Given the description of an element on the screen output the (x, y) to click on. 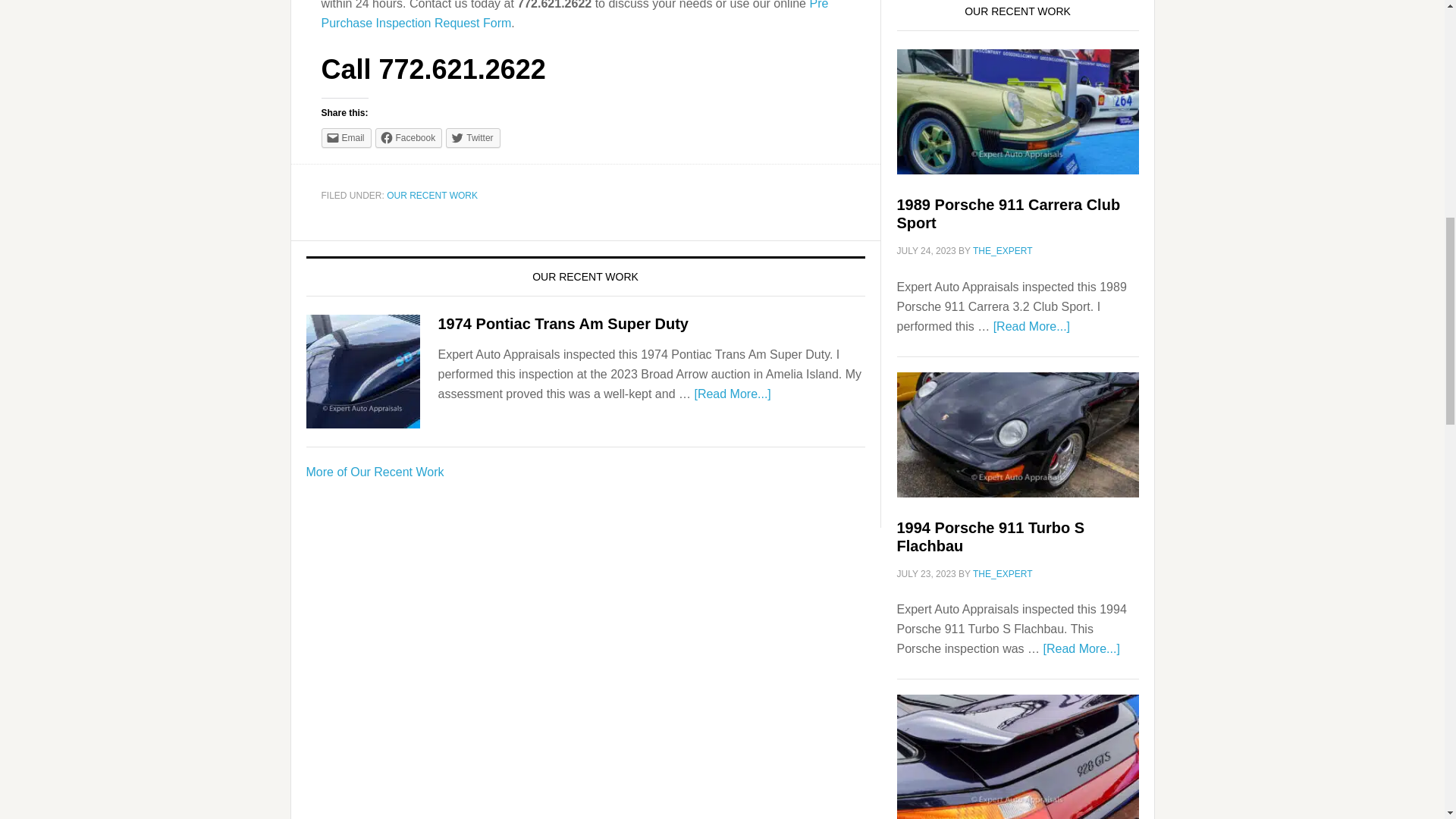
OUR RECENT WORK (432, 195)
Pre Purchase Inspection Request Form (574, 14)
Our Recent Work (374, 472)
Facebook (408, 137)
Click to share on Twitter (472, 137)
1994 Porsche 911 Turbo S Flachbau (990, 536)
More of Our Recent Work (374, 472)
Click to share on Facebook (408, 137)
Pre Purchase Inspection Request Form (574, 14)
Email (346, 137)
